Given the description of an element on the screen output the (x, y) to click on. 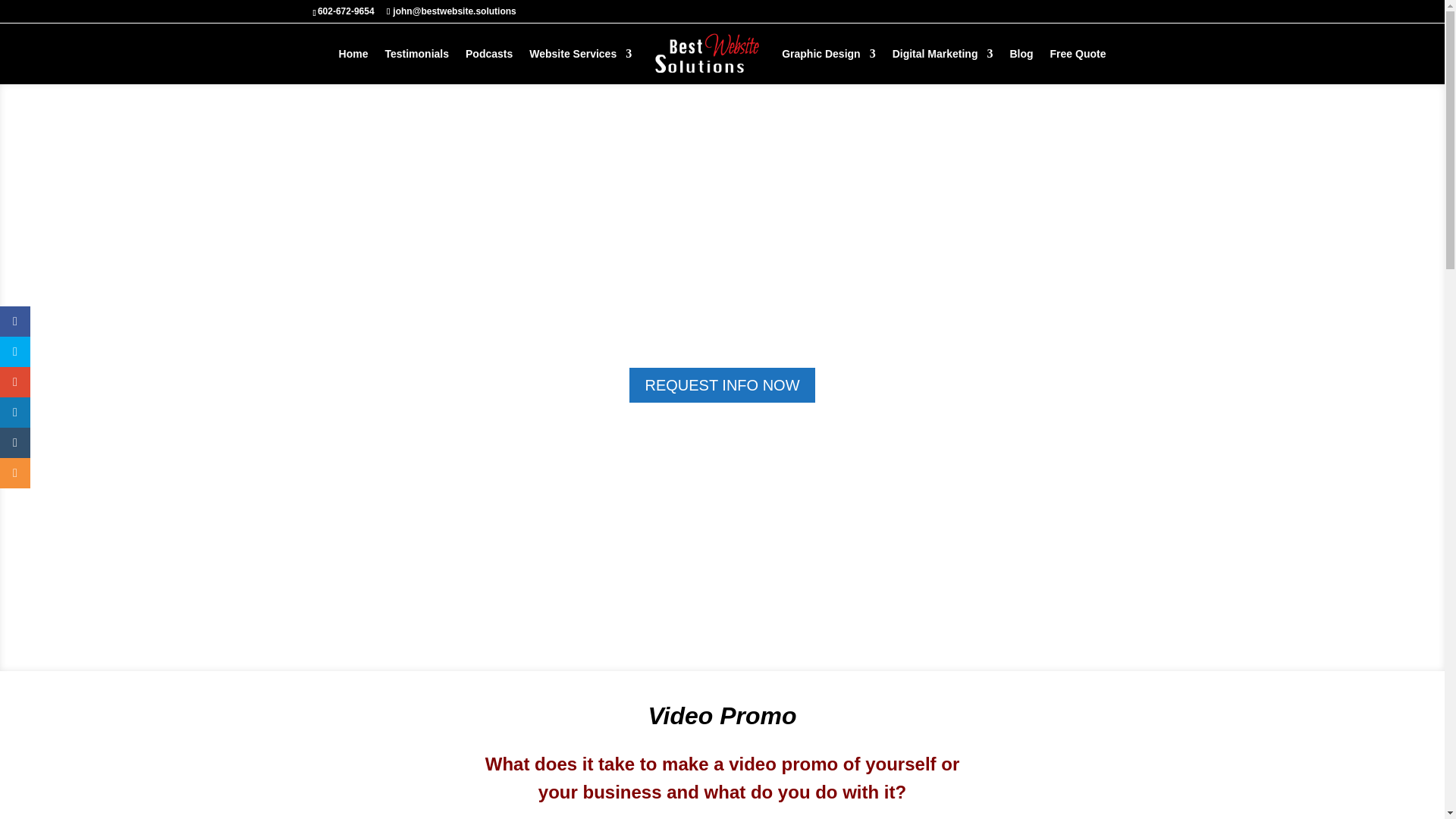
Graphic Design (828, 66)
Podcasts (488, 66)
Testimonials (416, 66)
Website Services (580, 66)
Free Quote (1077, 66)
Digital Marketing (942, 66)
